Given the description of an element on the screen output the (x, y) to click on. 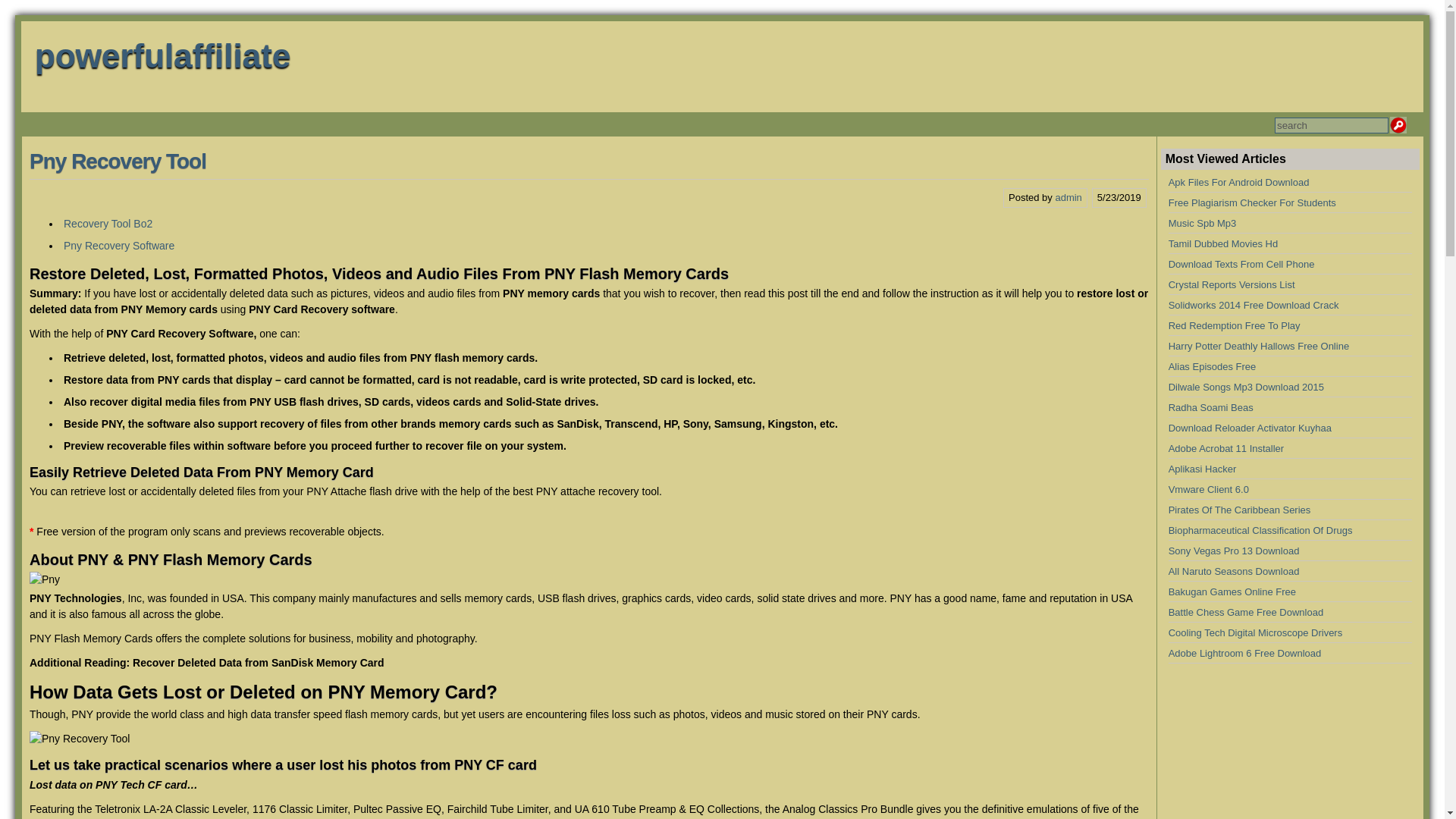
Biopharmaceutical Classification Of Drugs (1260, 530)
powerfulaffiliate (161, 55)
Download Reloader Activator Kuyhaa (1250, 428)
Pny Recovery Tool (79, 738)
search (1332, 125)
Radha Soami Beas (1211, 407)
Cooling Tech Digital Microscope Drivers (1255, 632)
Free Plagiarism Checker For Students (1252, 202)
Pirates Of The Caribbean Series (1240, 509)
Music Spb Mp3 (1202, 223)
